Given the description of an element on the screen output the (x, y) to click on. 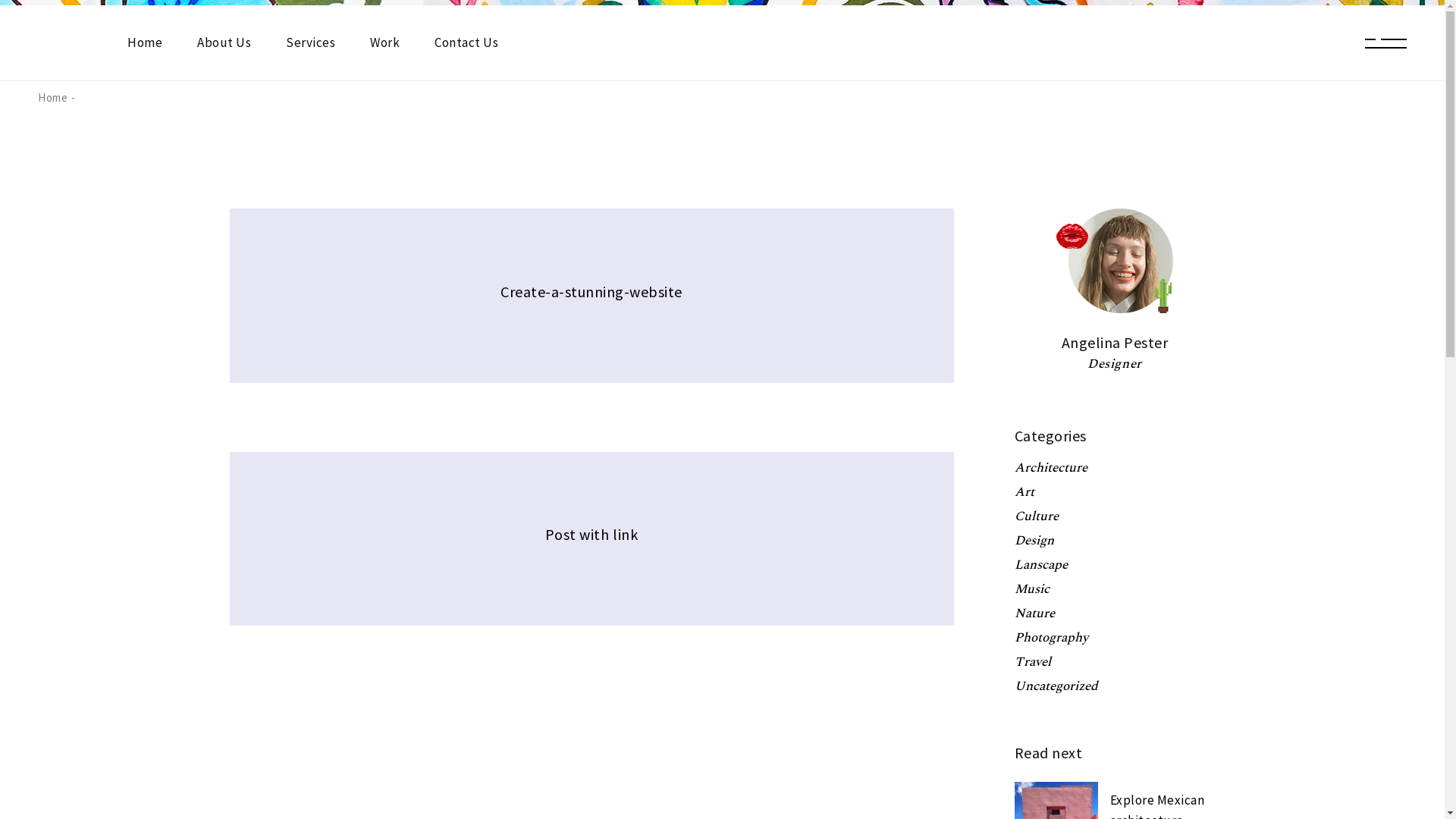
Art Element type: text (1024, 492)
Contact Us Element type: text (595, 572)
Work Element type: text (384, 42)
Nature Element type: text (1034, 613)
Travel Element type: text (1032, 661)
Architecture Element type: text (1050, 467)
Music Element type: text (1031, 589)
Contact Us Element type: text (466, 42)
Design Element type: text (1034, 540)
Home Element type: text (582, 543)
Elkas Digital Element type: text (439, 656)
Photography Element type: text (1051, 637)
0404 172 272 Element type: text (978, 571)
Services Element type: text (741, 543)
In. Element type: text (336, 622)
Services Element type: text (310, 42)
About Us Element type: text (224, 42)
Home Element type: text (52, 97)
Home Element type: text (144, 42)
info@elkas.com.au Element type: text (993, 604)
Uncategorized Element type: text (1056, 686)
Lanscape Element type: text (1040, 564)
Fb. Element type: text (312, 622)
Work Element type: text (813, 543)
About Us Element type: text (658, 543)
Culture Element type: text (1036, 516)
